Given the description of an element on the screen output the (x, y) to click on. 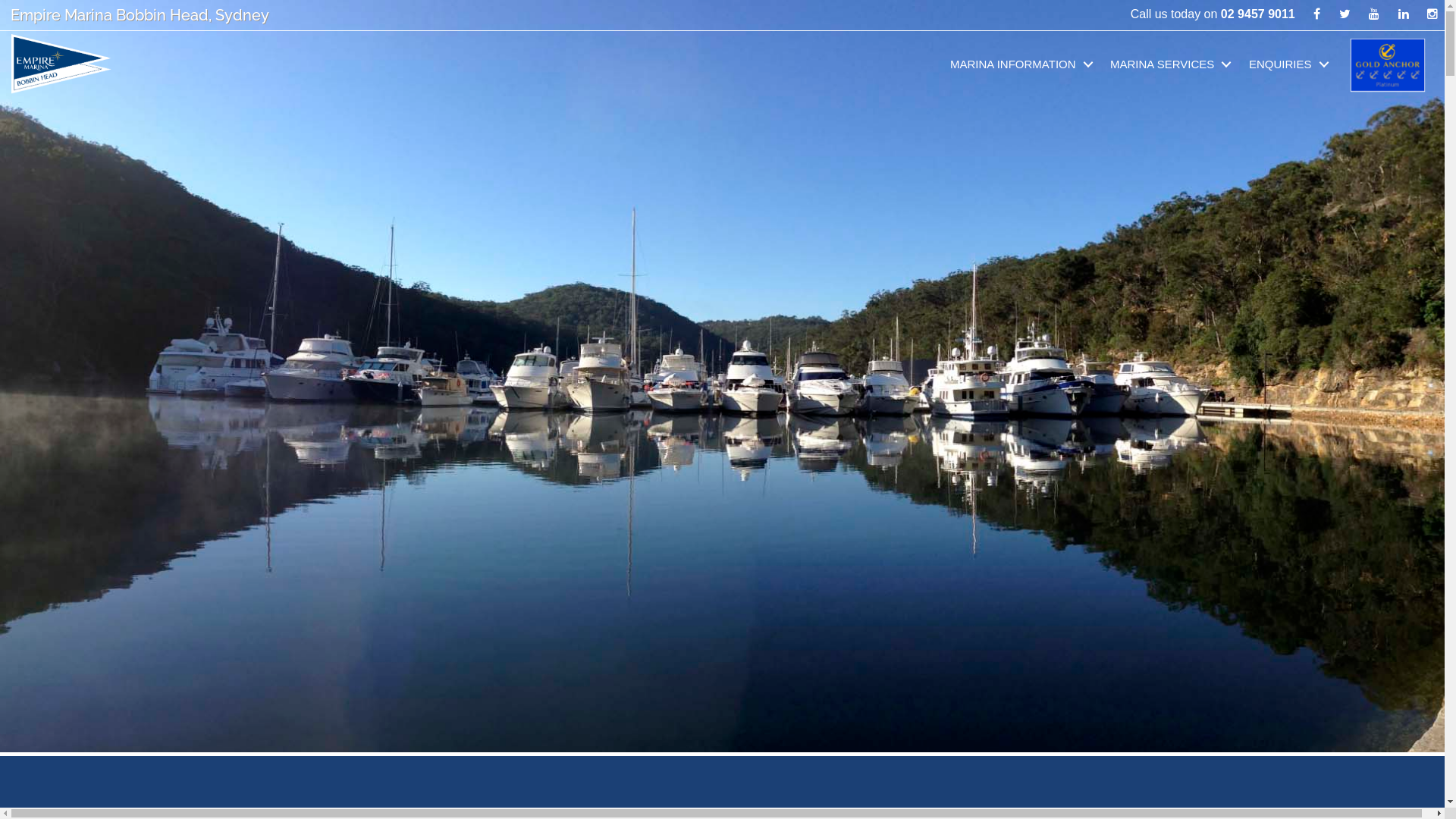
Call us today on 02 9457 9011 Element type: text (1212, 13)
ENQUIRIES Element type: text (1291, 64)
MARINA INFORMATION Element type: text (1024, 64)
MARINA SERVICES Element type: text (1173, 64)
